Given the description of an element on the screen output the (x, y) to click on. 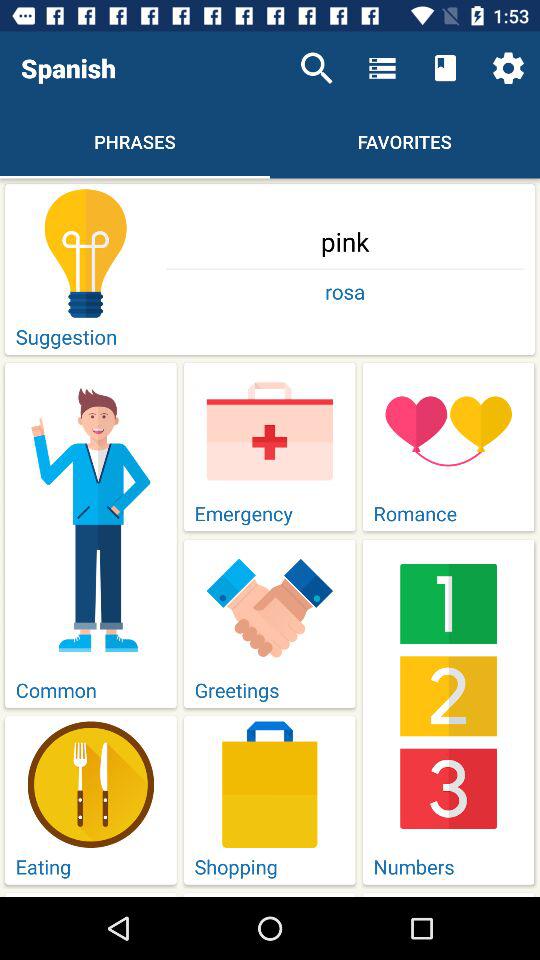
click on the image above emergency (269, 431)
select the image which is above suggestion (86, 253)
click the emergency button on the web page (269, 447)
click on romance (448, 447)
click on the button under common (90, 800)
